Given the description of an element on the screen output the (x, y) to click on. 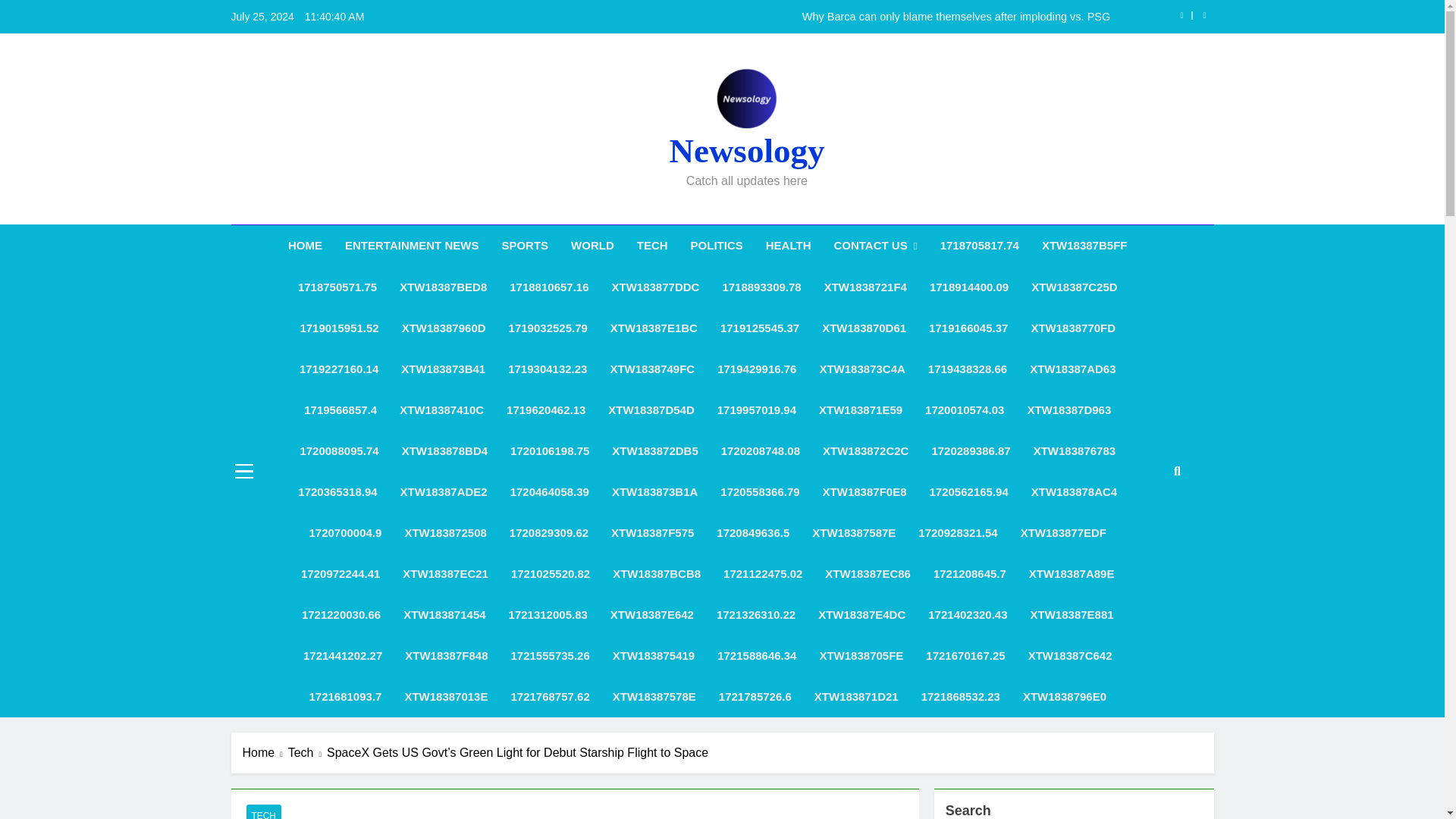
Why Barca can only blame themselves after imploding vs. PSG (817, 16)
ENTERTAINMENT NEWS (411, 245)
1718705817.74 (979, 245)
XTW183877DDC (655, 286)
XTW18387B5FF (1084, 245)
HOME (304, 245)
Why Barca can only blame themselves after imploding vs. PSG (817, 16)
on (1206, 469)
HEALTH (788, 245)
XTW18387BED8 (442, 286)
WORLD (592, 245)
1718750571.75 (337, 286)
SPORTS (524, 245)
CONTACT US (875, 245)
POLITICS (716, 245)
